Given the description of an element on the screen output the (x, y) to click on. 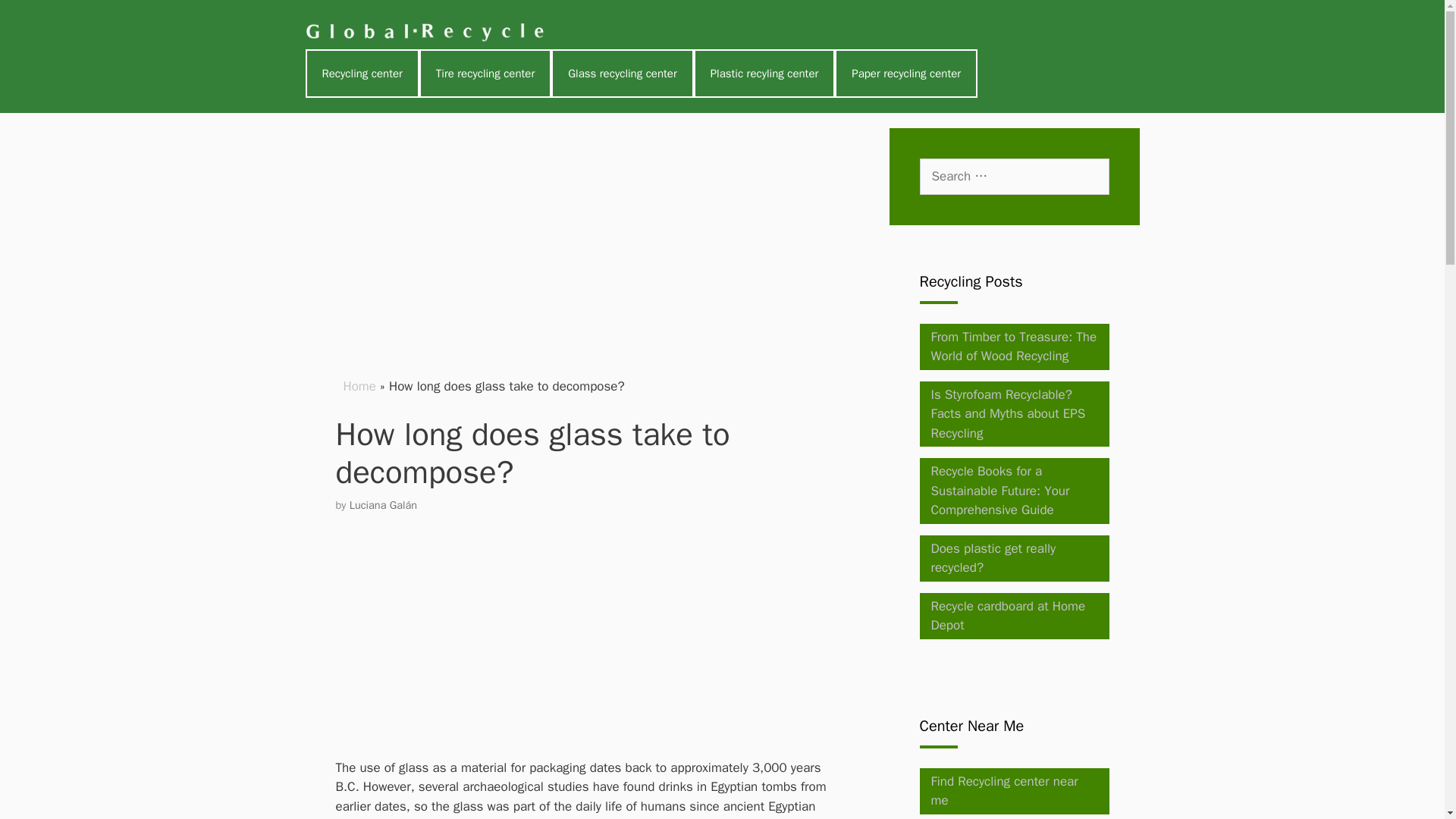
Global Recycle (427, 32)
Is Styrofoam Recyclable? Facts and Myths about EPS Recycling (1008, 413)
Advertisement (619, 645)
Paper recycling center (905, 73)
Recycling center (361, 73)
Plastic recyling center (764, 73)
Home (358, 385)
Tire recycling center (485, 73)
Advertisement (588, 233)
Search (33, 17)
